Given the description of an element on the screen output the (x, y) to click on. 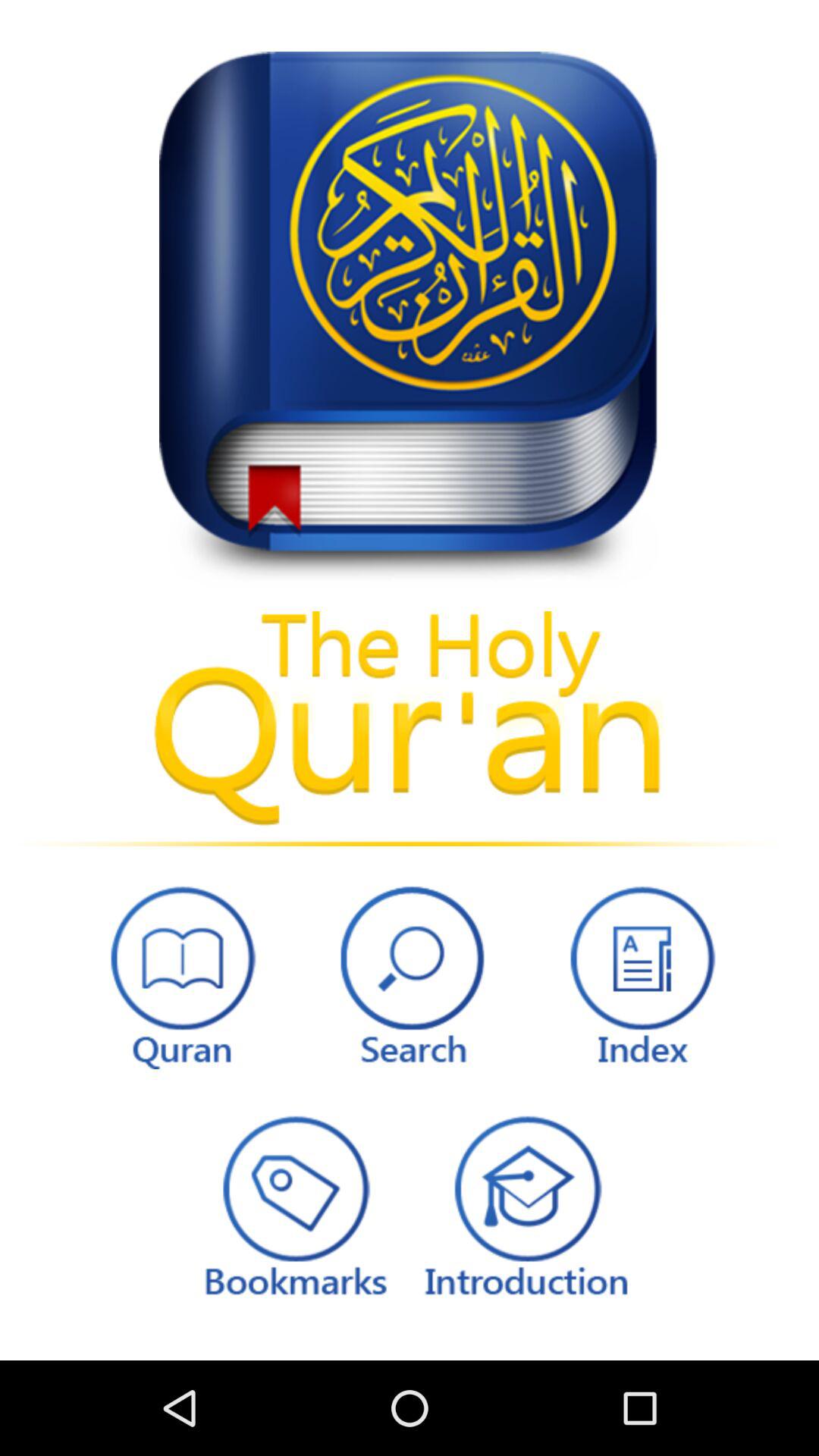
read introduction (525, 1204)
